Given the description of an element on the screen output the (x, y) to click on. 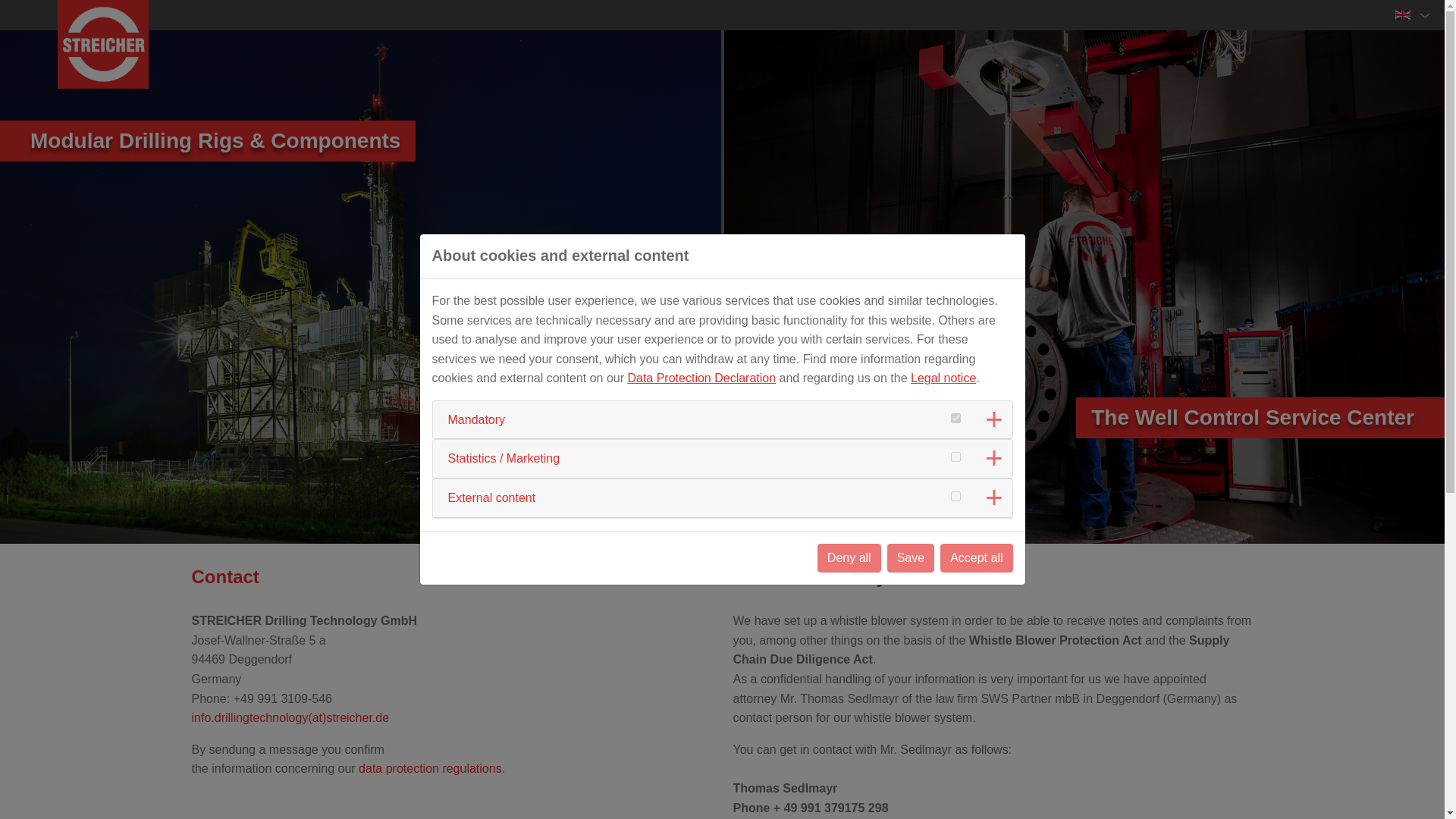
data protection regulations (430, 768)
on (955, 418)
Data Protection Declaration (701, 377)
Mandatory (475, 419)
on (955, 456)
Data Protection Regulations (430, 768)
Legal notice (943, 377)
External content (490, 497)
on (955, 496)
